Given the description of an element on the screen output the (x, y) to click on. 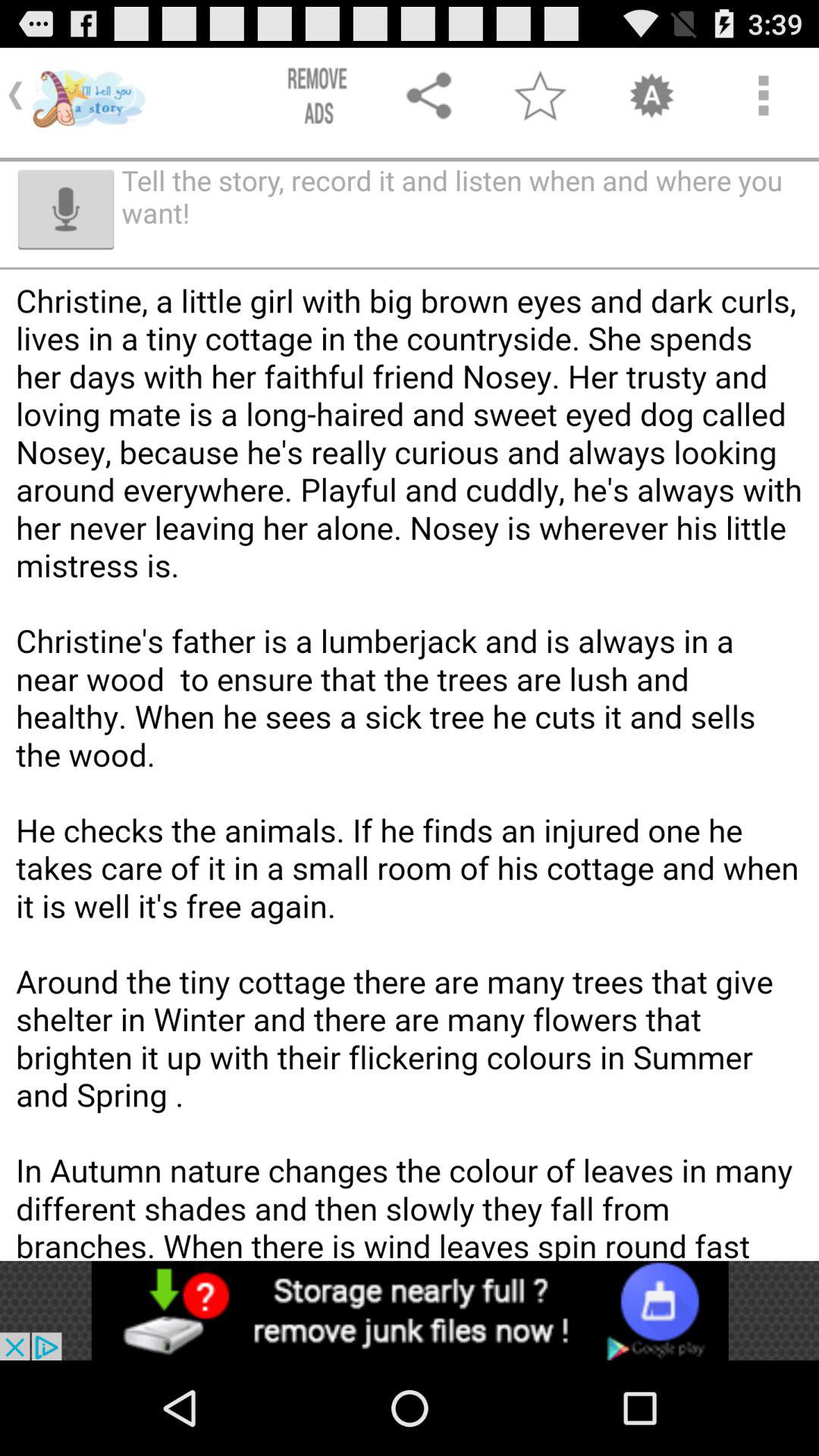
description (409, 814)
